Given the description of an element on the screen output the (x, y) to click on. 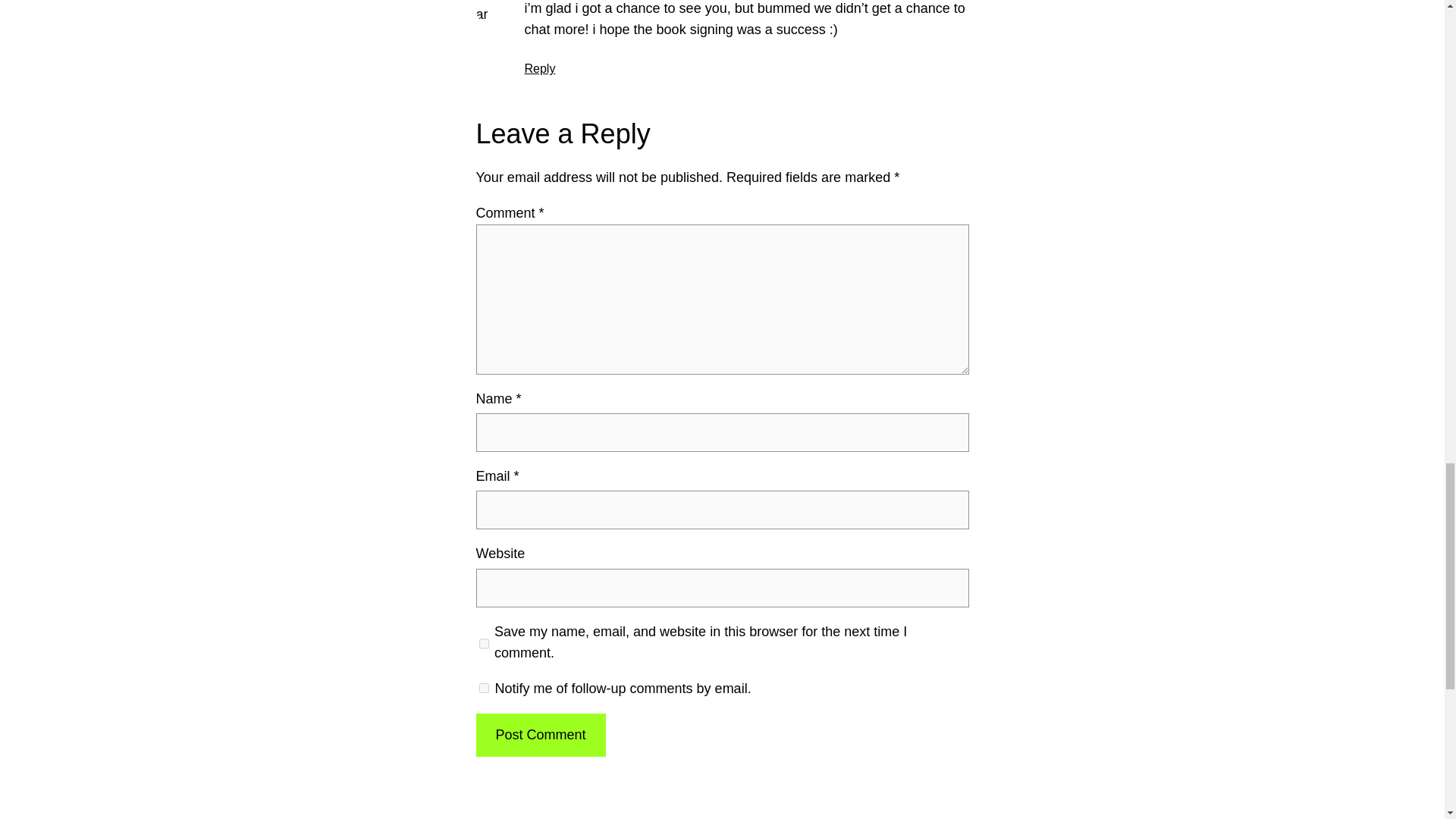
Post Comment (540, 734)
subscribe (484, 687)
Reply (540, 68)
Post Comment (540, 734)
